Given the description of an element on the screen output the (x, y) to click on. 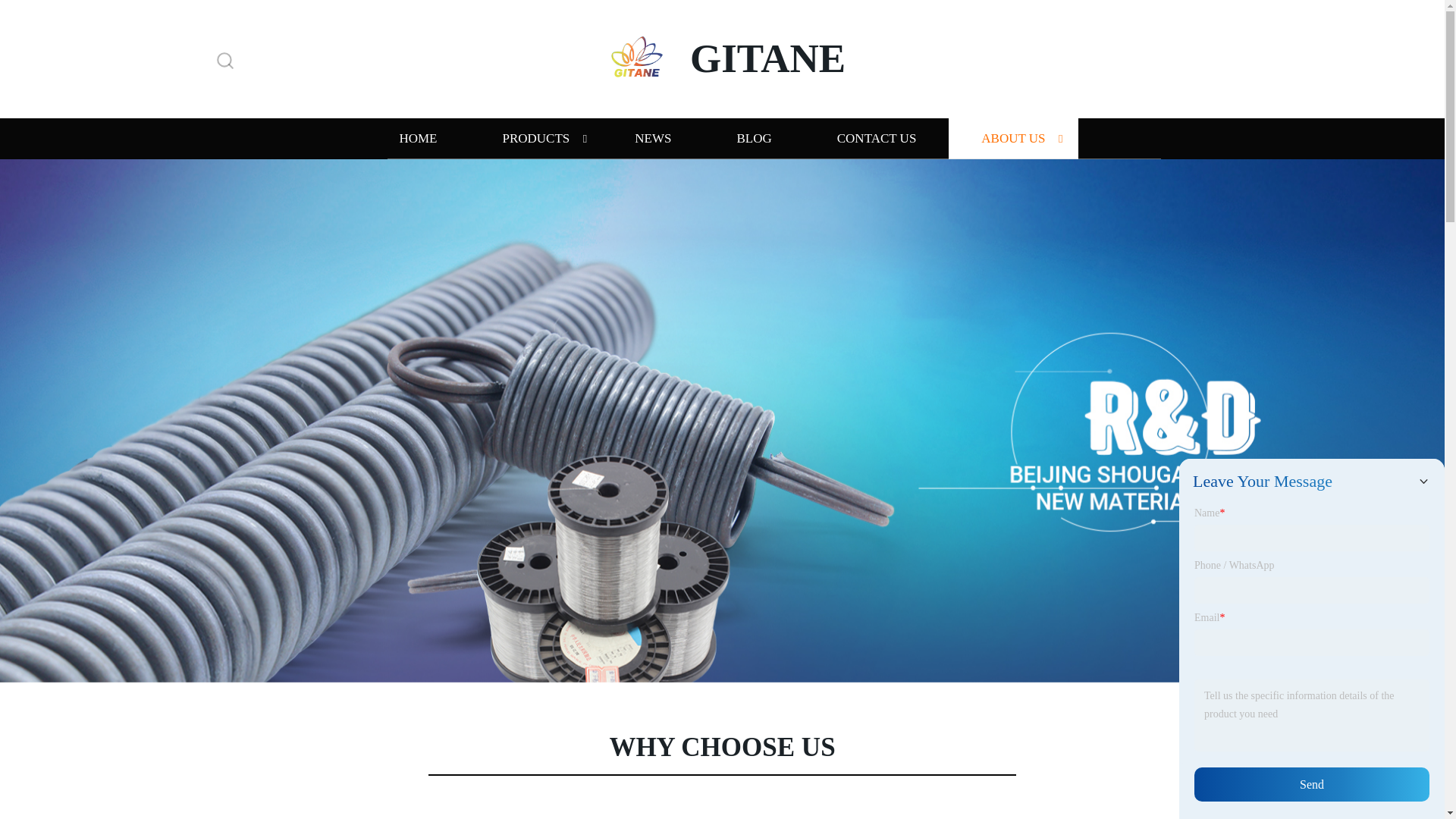
PRODUCTS (535, 137)
NEWS (652, 137)
BLOG (753, 137)
CONTACT US (877, 137)
Top (1404, 774)
HOME (417, 137)
ABOUT US (1013, 137)
